Given the description of an element on the screen output the (x, y) to click on. 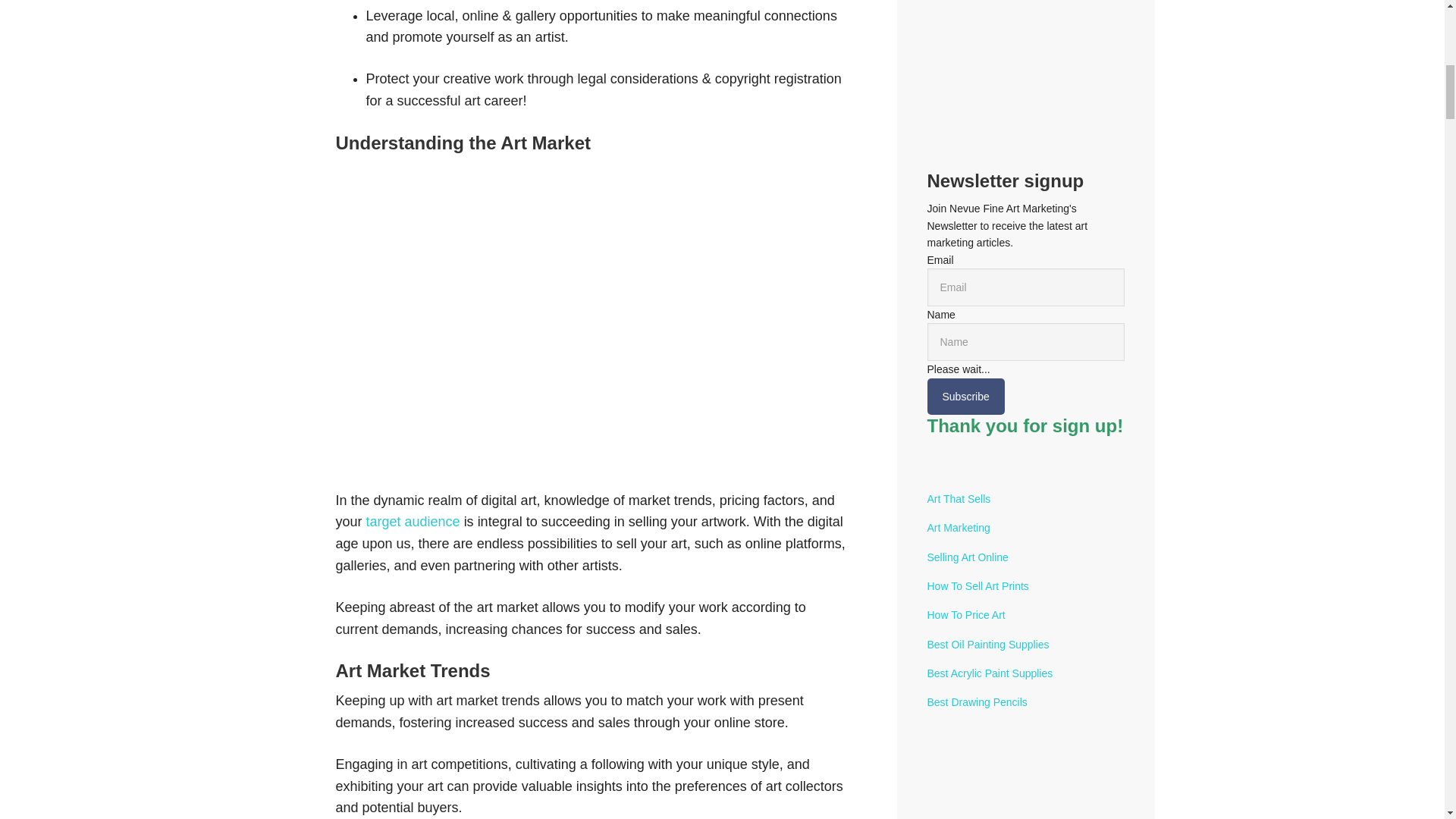
target audience (415, 521)
